Given the description of an element on the screen output the (x, y) to click on. 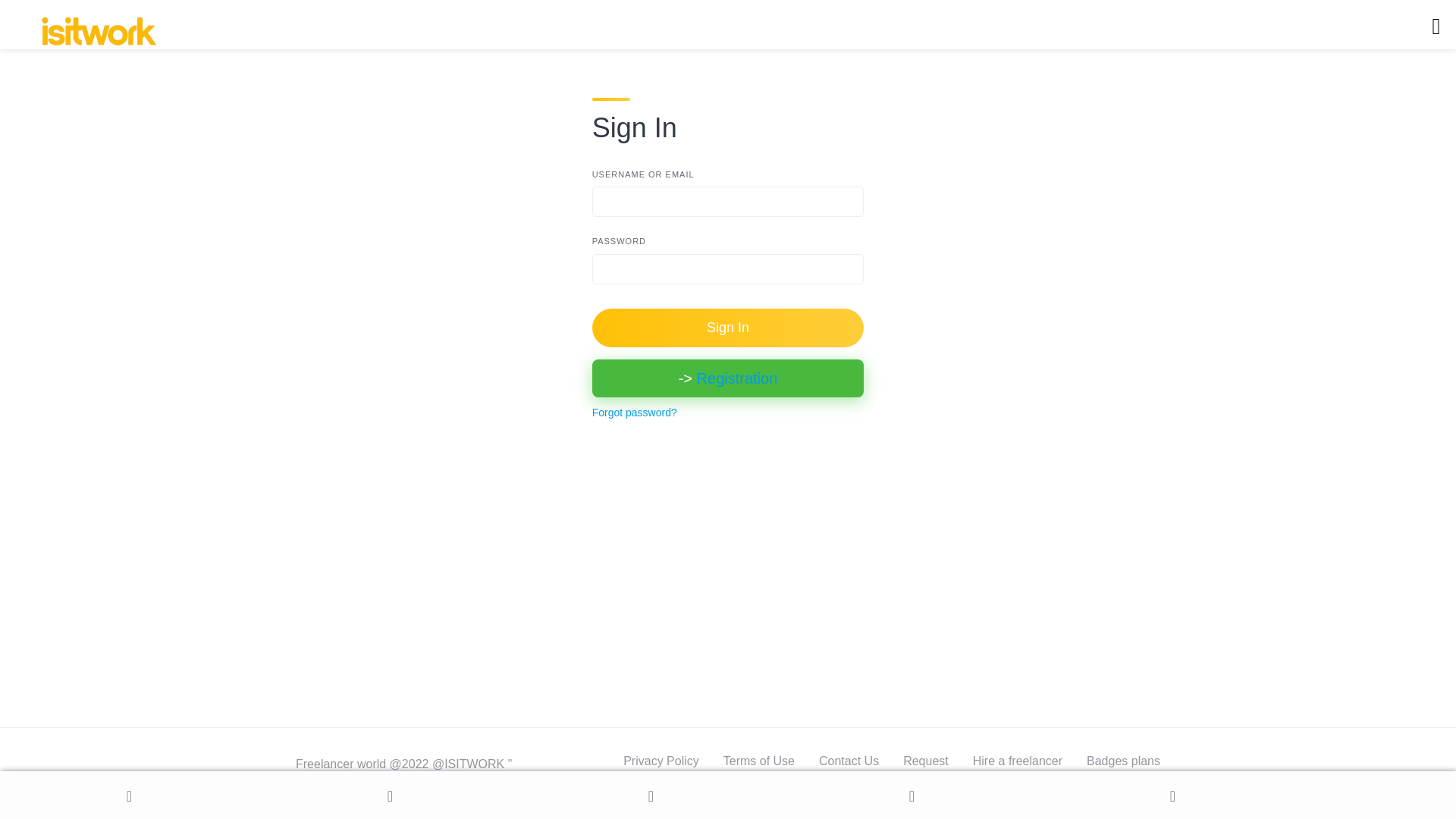
Request (925, 760)
Registration (737, 378)
Forgot password? (634, 412)
Categories (1008, 784)
Hire a freelancer (1017, 760)
reviews (934, 784)
Terms of Use (758, 760)
Dash (652, 795)
Search (391, 795)
Tags (1074, 784)
Messages (912, 795)
Glossary (1136, 784)
Contact (1173, 795)
Sign In (728, 327)
List of verified freelancers (820, 784)
